Given the description of an element on the screen output the (x, y) to click on. 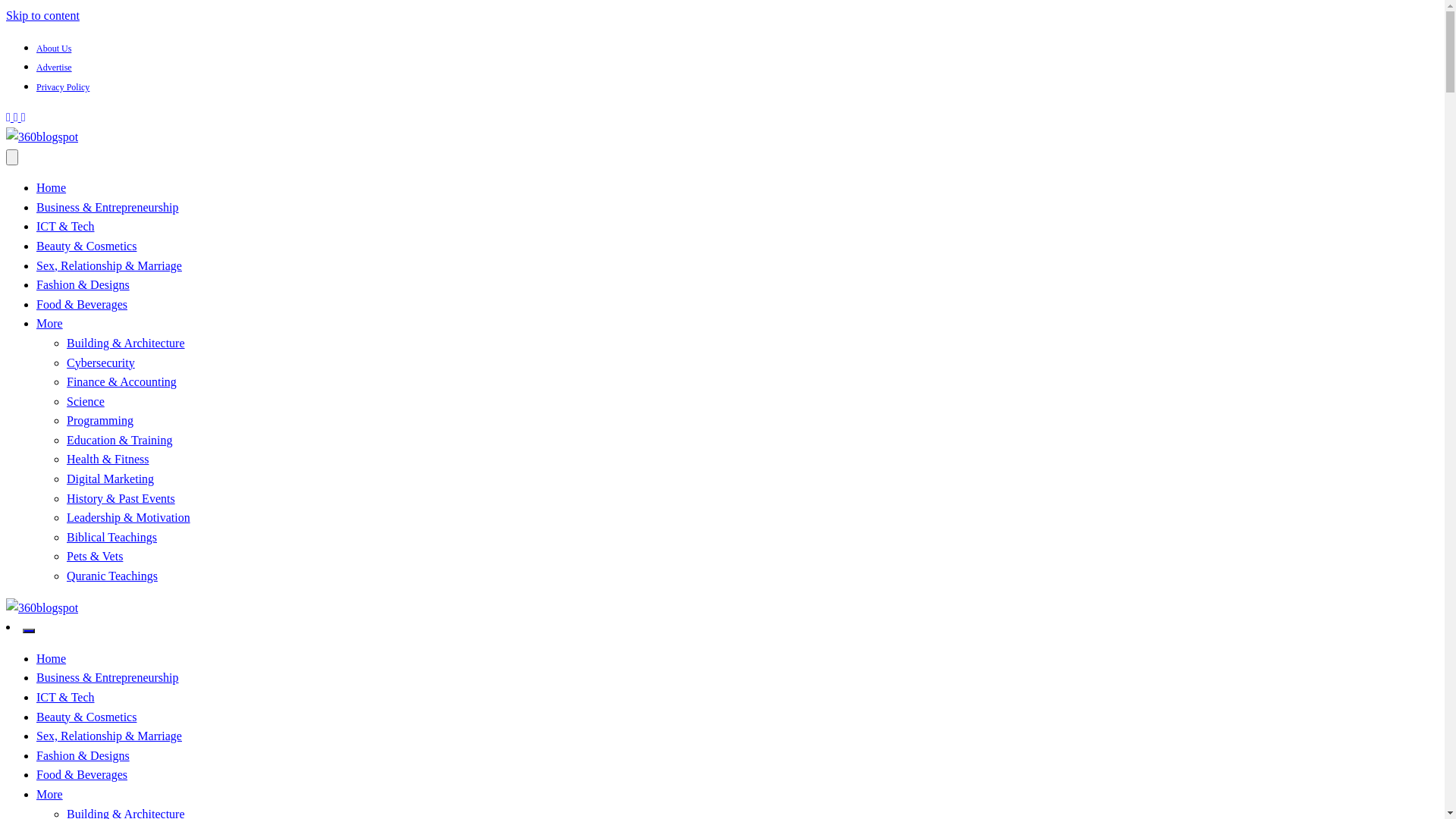
Home Element type: text (50, 658)
Advertise Element type: text (54, 67)
History & Past Events Element type: text (120, 498)
360blogspot Element type: text (68, 181)
Building & Architecture Element type: text (125, 342)
Sex, Relationship & Marriage Element type: text (109, 265)
Beauty & Cosmetics Element type: text (86, 716)
Digital Marketing Element type: text (109, 478)
Leadership & Motivation Element type: text (128, 517)
Business & Entrepreneurship Element type: text (107, 206)
Pets & Vets Element type: text (94, 555)
Health & Fitness Element type: text (107, 458)
Science Element type: text (85, 401)
Fashion & Designs Element type: text (82, 755)
Cybersecurity Element type: text (100, 362)
Food & Beverages Element type: text (81, 774)
Privacy Policy Element type: text (62, 86)
Fashion & Designs Element type: text (82, 284)
Food & Beverages Element type: text (81, 304)
Education & Training Element type: text (119, 439)
Home Element type: text (50, 187)
More Element type: text (49, 793)
Biblical Teachings Element type: text (111, 536)
360blogspot Element type: text (68, 652)
Beauty & Cosmetics Element type: text (86, 245)
Finance & Accounting Element type: text (121, 381)
About Us Element type: text (53, 48)
More Element type: text (49, 322)
Quranic Teachings Element type: text (111, 575)
Business & Entrepreneurship Element type: text (107, 677)
ICT & Tech Element type: text (65, 696)
Sex, Relationship & Marriage Element type: text (109, 735)
Skip to content Element type: text (42, 15)
Programming Element type: text (99, 420)
ICT & Tech Element type: text (65, 225)
